Given the description of an element on the screen output the (x, y) to click on. 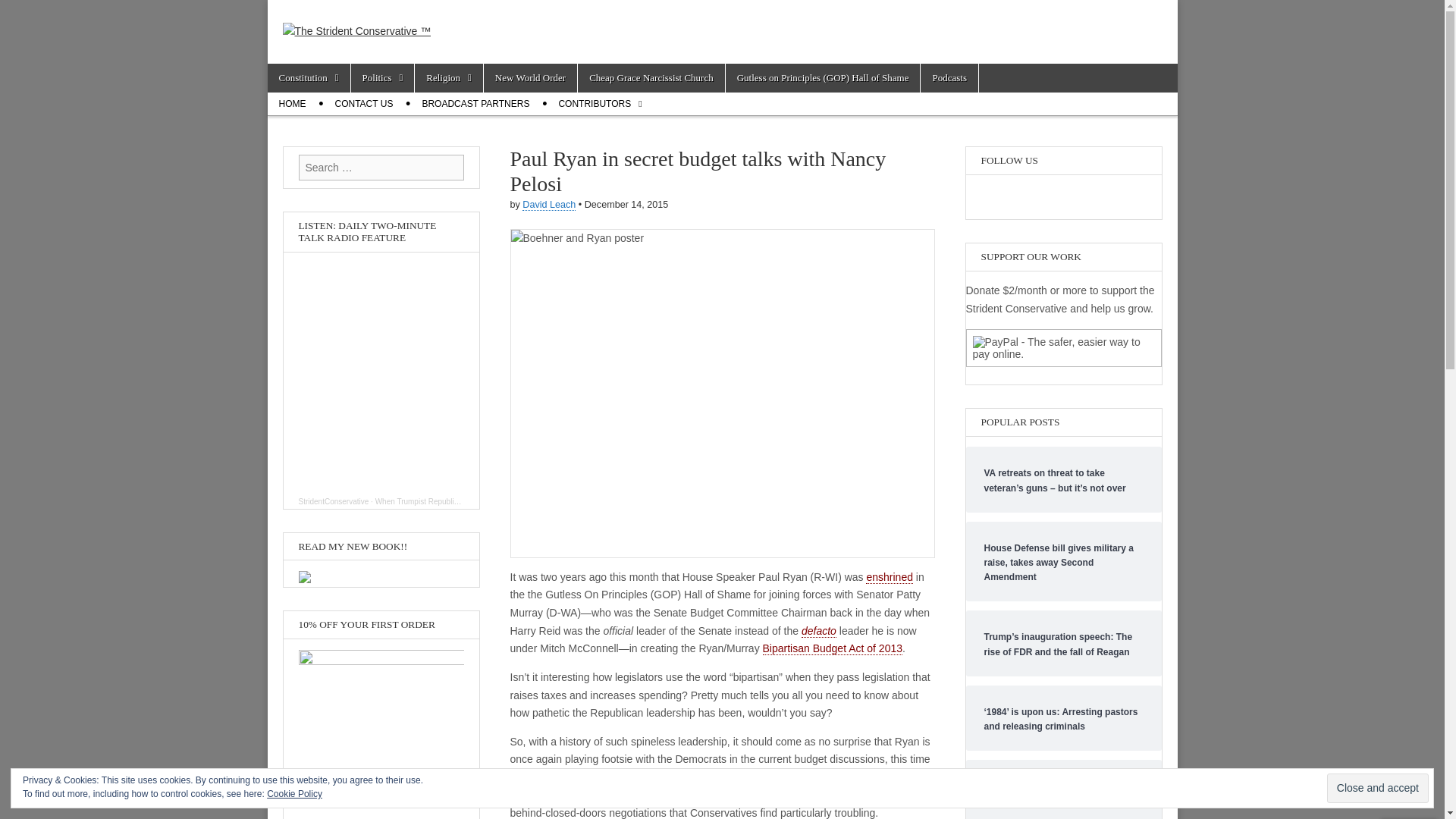
StridentConservative (333, 501)
Politics (382, 77)
Close and accept (1377, 788)
Posts by David Leach (548, 204)
Constitution (307, 77)
